Given the description of an element on the screen output the (x, y) to click on. 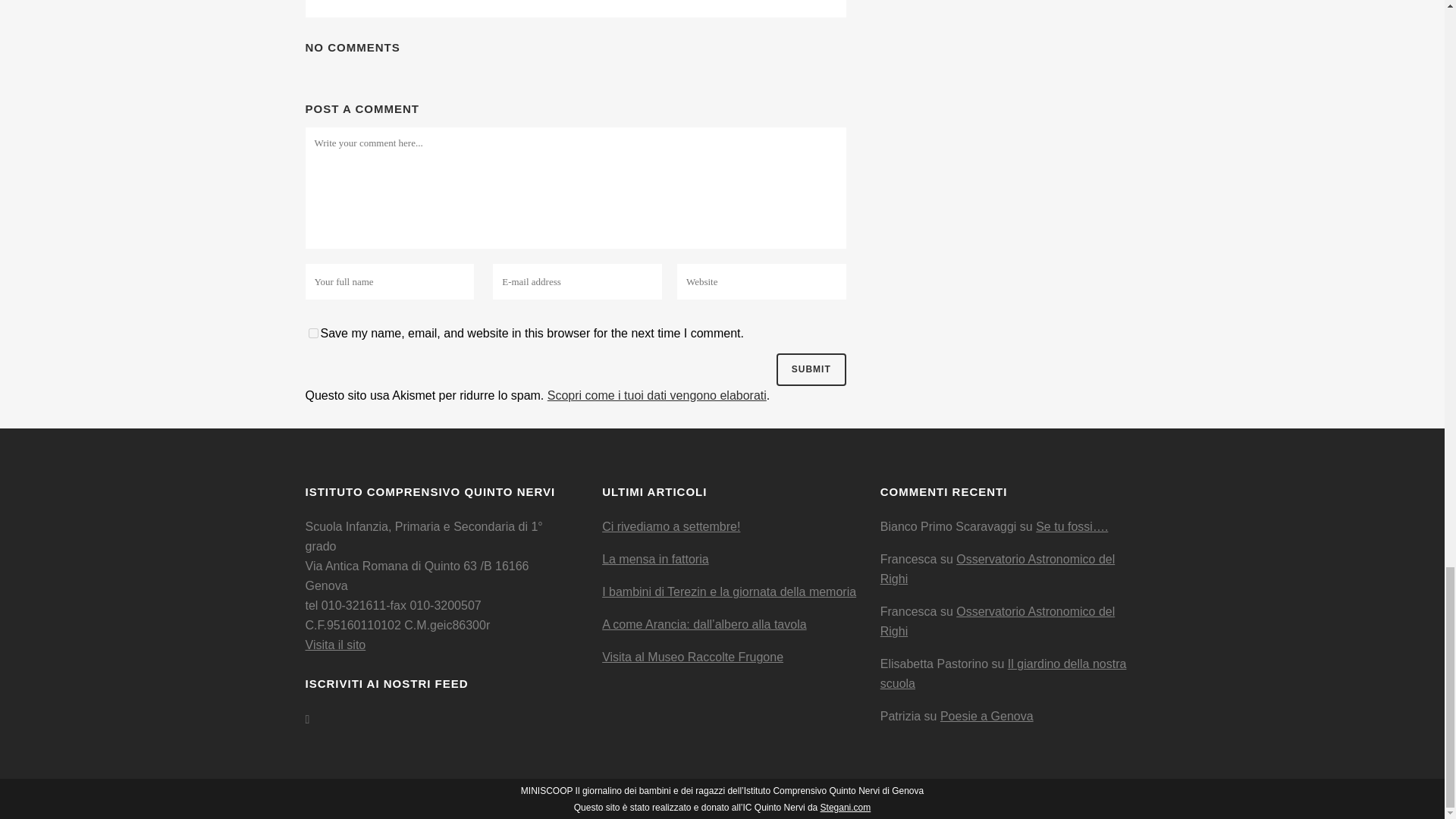
Submit (810, 368)
yes (312, 333)
LINK (334, 644)
